Given the description of an element on the screen output the (x, y) to click on. 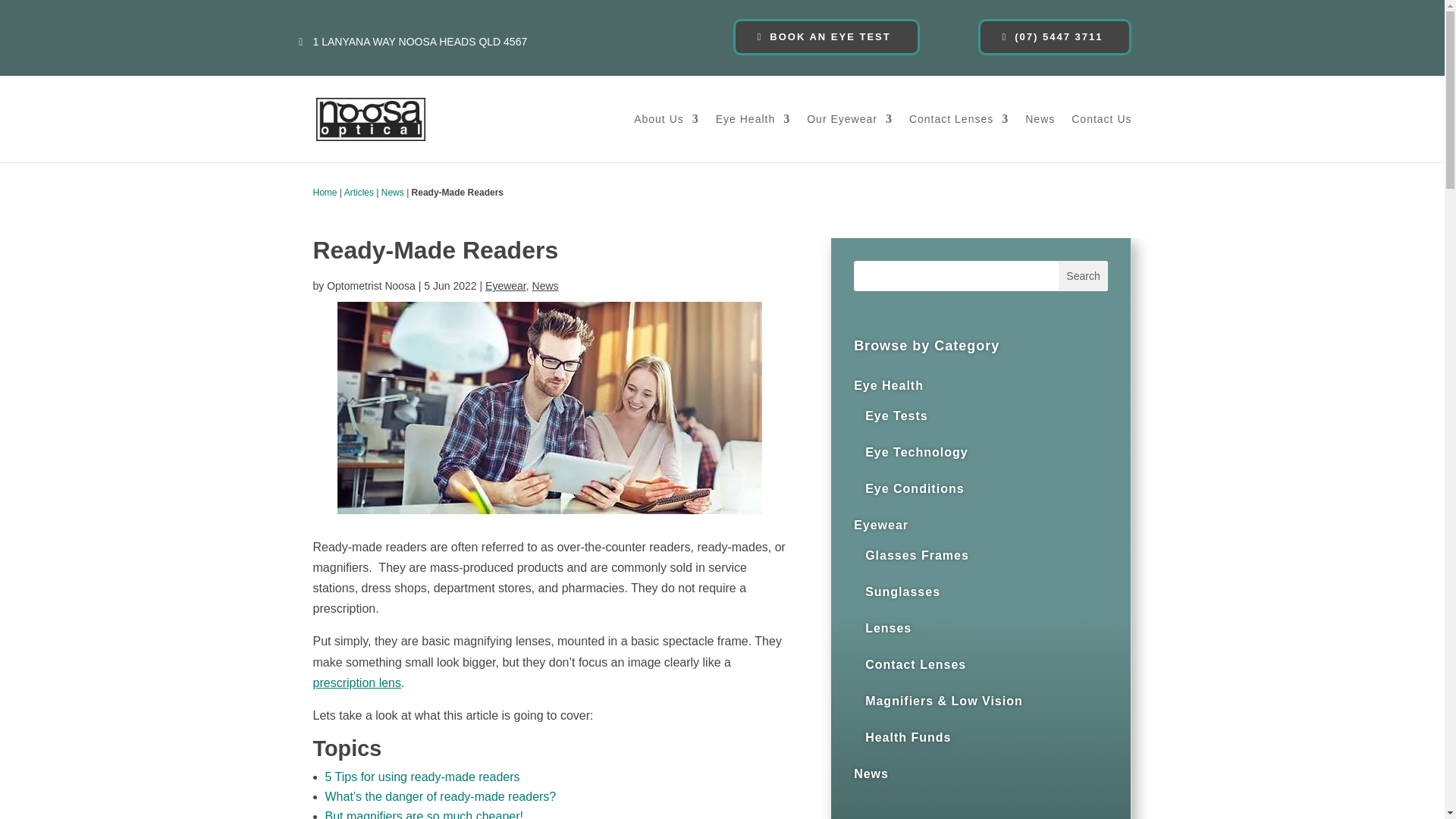
Articles (358, 192)
Home (324, 192)
Contact Us (1101, 137)
1 LANYANA WAY NOOSA HEADS QLD 4567 (420, 42)
Eye Health (753, 137)
News (392, 192)
News (545, 285)
Our Eyewear (849, 137)
BOOK AN EYE TEST (825, 36)
About Us (665, 137)
